Given the description of an element on the screen output the (x, y) to click on. 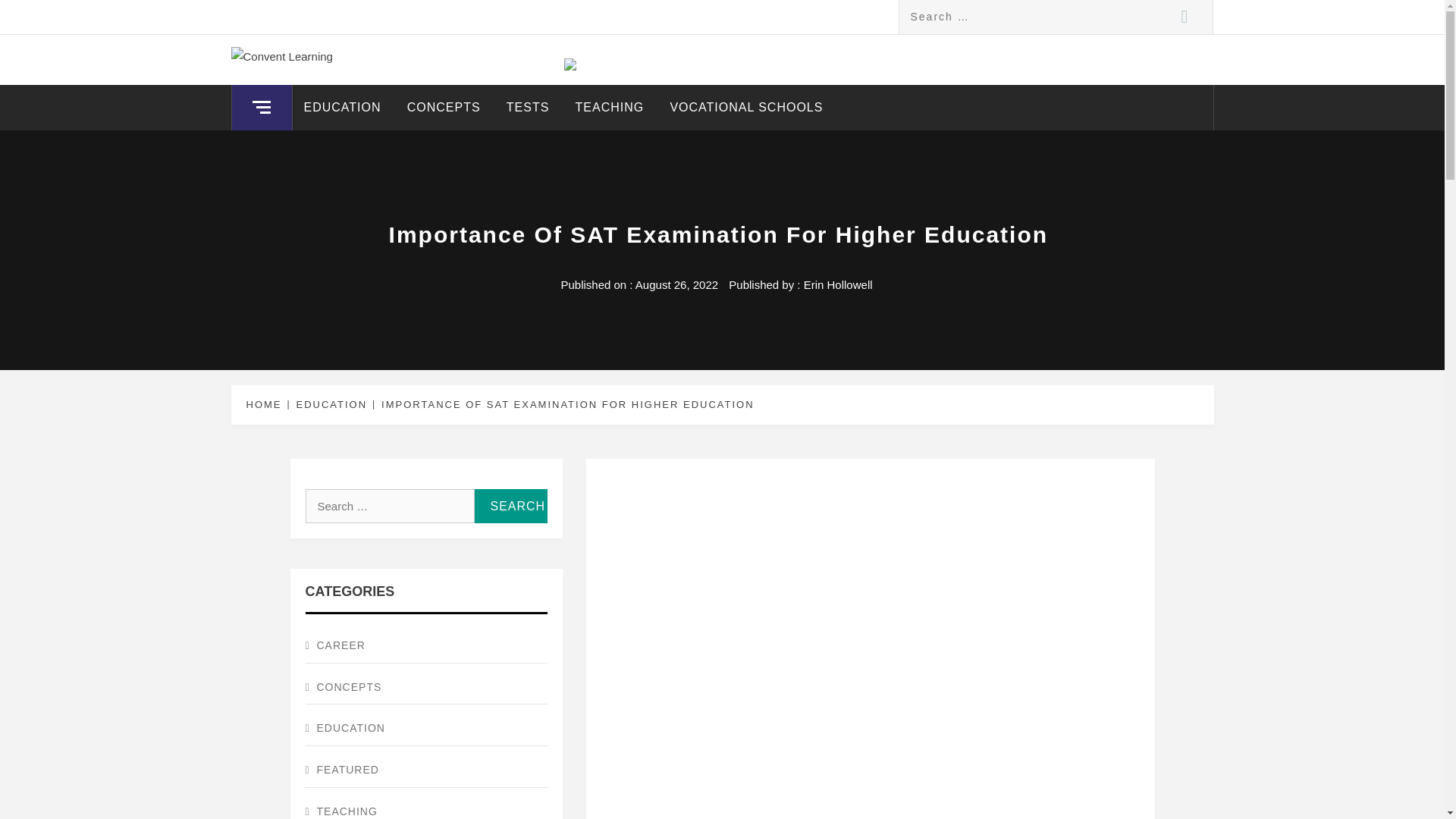
Erin Hollowell (837, 284)
TESTS (527, 107)
Search (1184, 17)
Convent Learning (367, 70)
CONCEPTS (425, 687)
FEATURED (425, 770)
CONCEPTS (444, 107)
VOCATIONAL SCHOOLS (746, 107)
Search (510, 505)
TEACHING (425, 807)
